Given the description of an element on the screen output the (x, y) to click on. 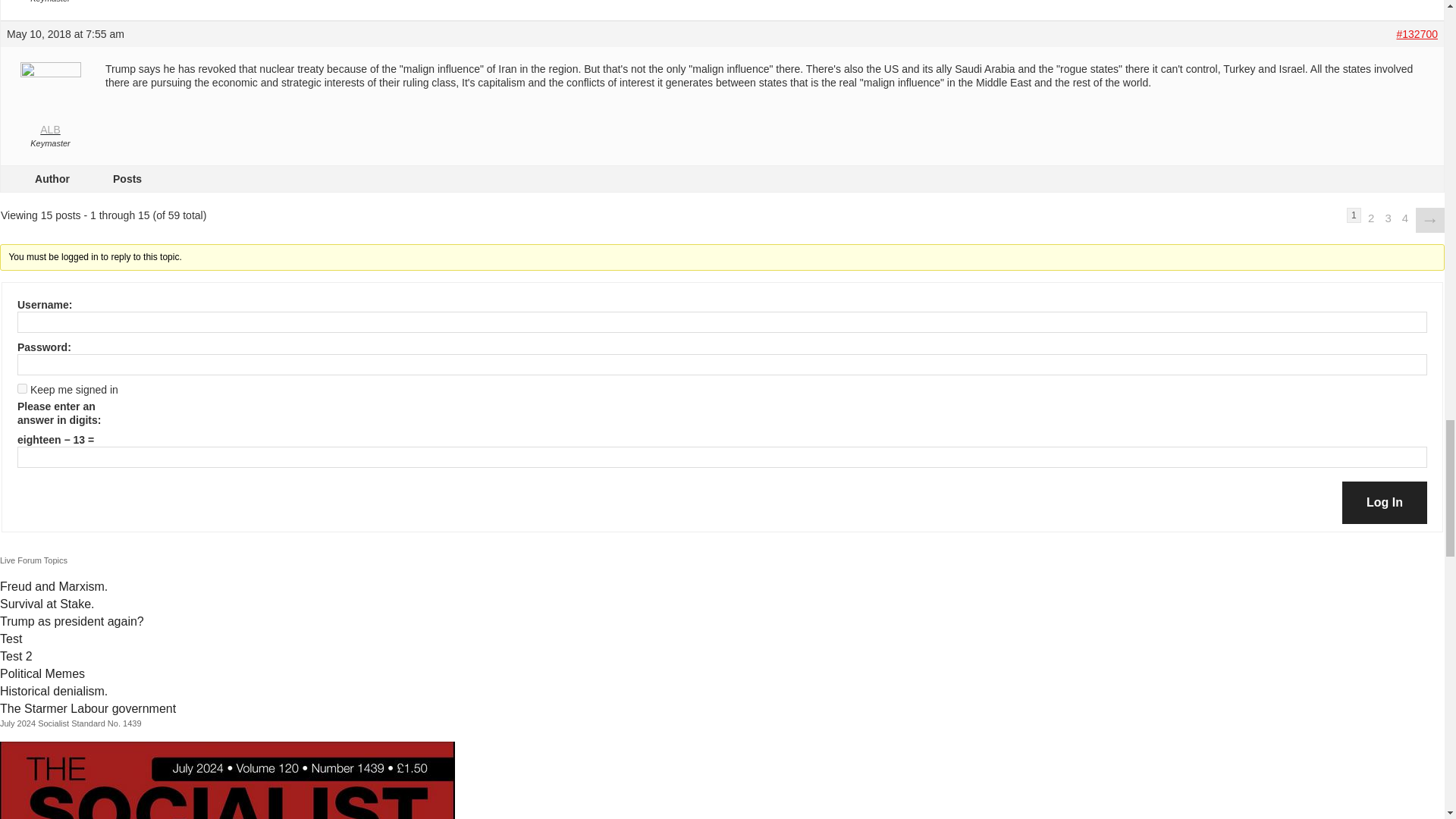
View ALB's profile (50, 101)
March 2024 Socialist Standard No. 1435 (227, 780)
forever (22, 388)
